Given the description of an element on the screen output the (x, y) to click on. 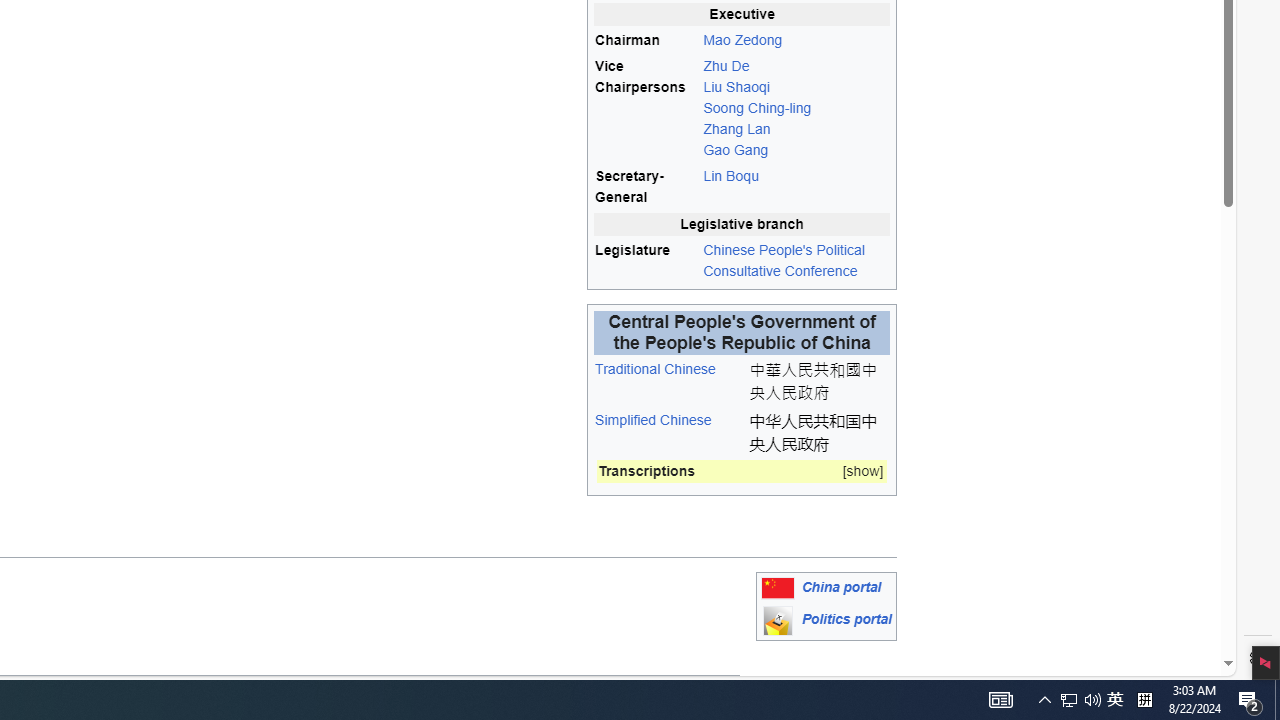
Secretary-General (646, 187)
Executive (741, 13)
icon (777, 619)
Mao Zedong (742, 39)
